Given the description of an element on the screen output the (x, y) to click on. 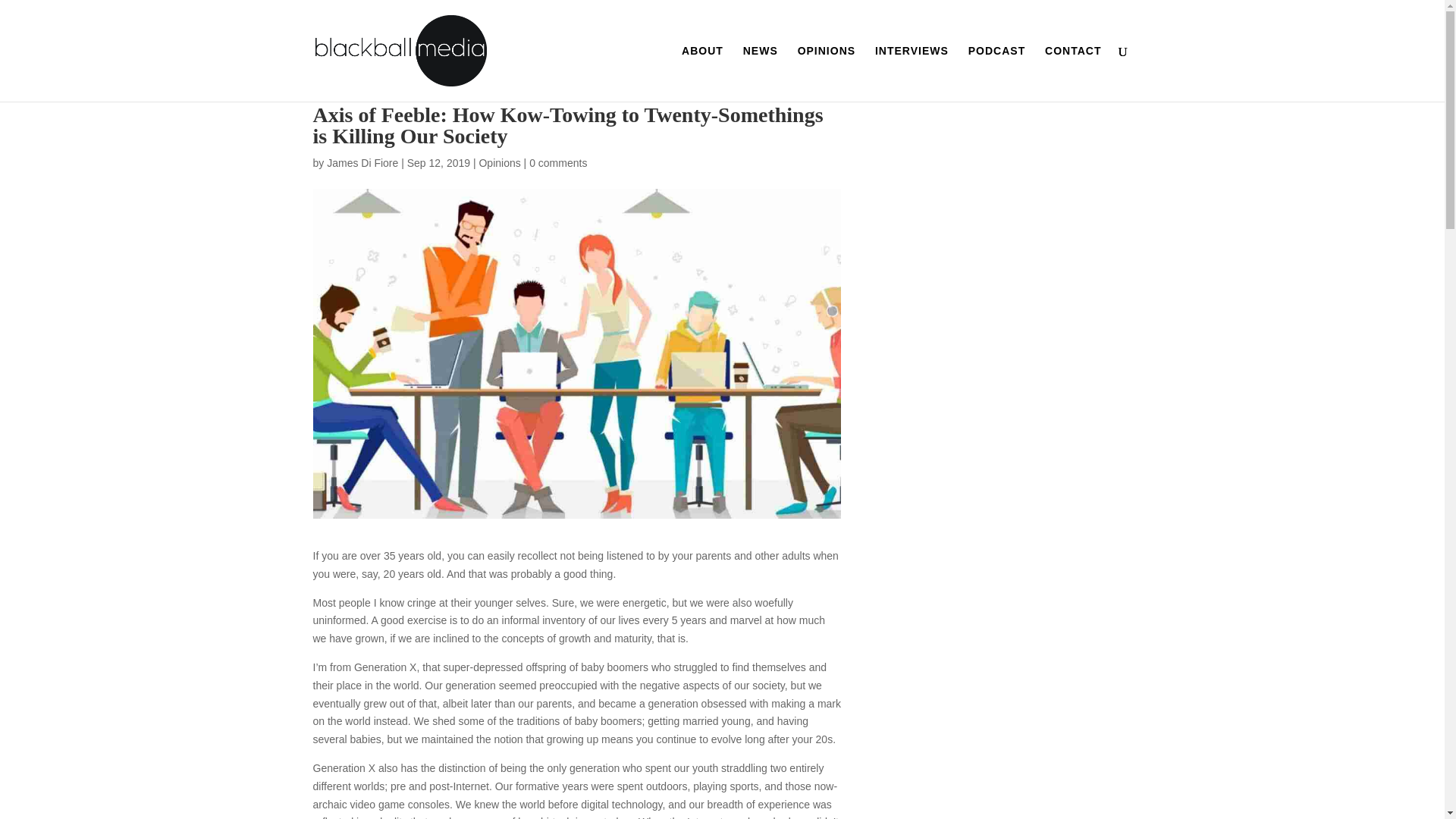
PODCAST (996, 73)
INTERVIEWS (912, 73)
James Di Fiore (361, 162)
Opinions (499, 162)
Posts by James Di Fiore (361, 162)
CONTACT (1072, 73)
0 comments (557, 162)
OPINIONS (826, 73)
